Given the description of an element on the screen output the (x, y) to click on. 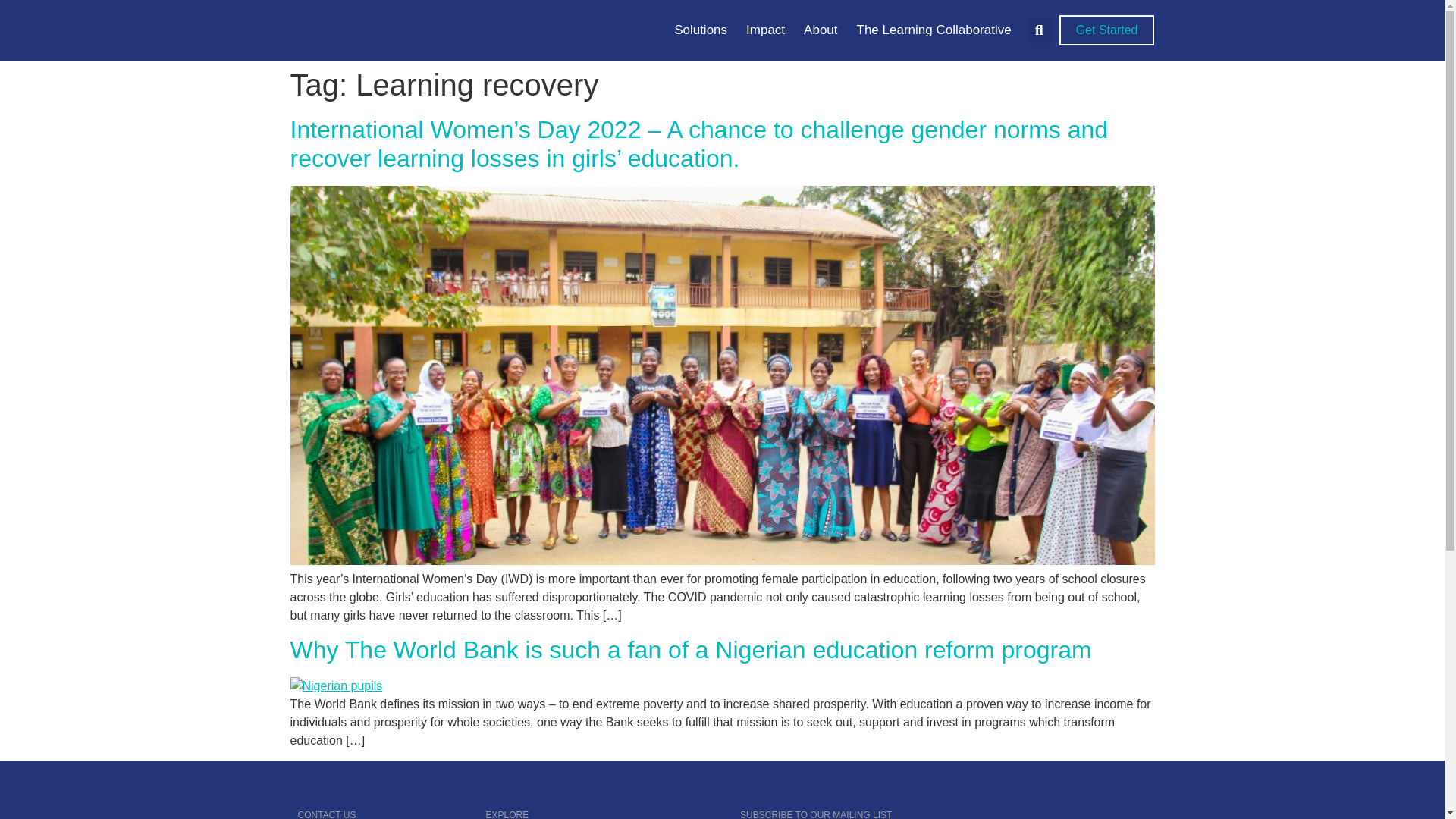
Impact (764, 30)
About (820, 30)
The Learning Collaborative (934, 30)
Solutions (700, 30)
